Given the description of an element on the screen output the (x, y) to click on. 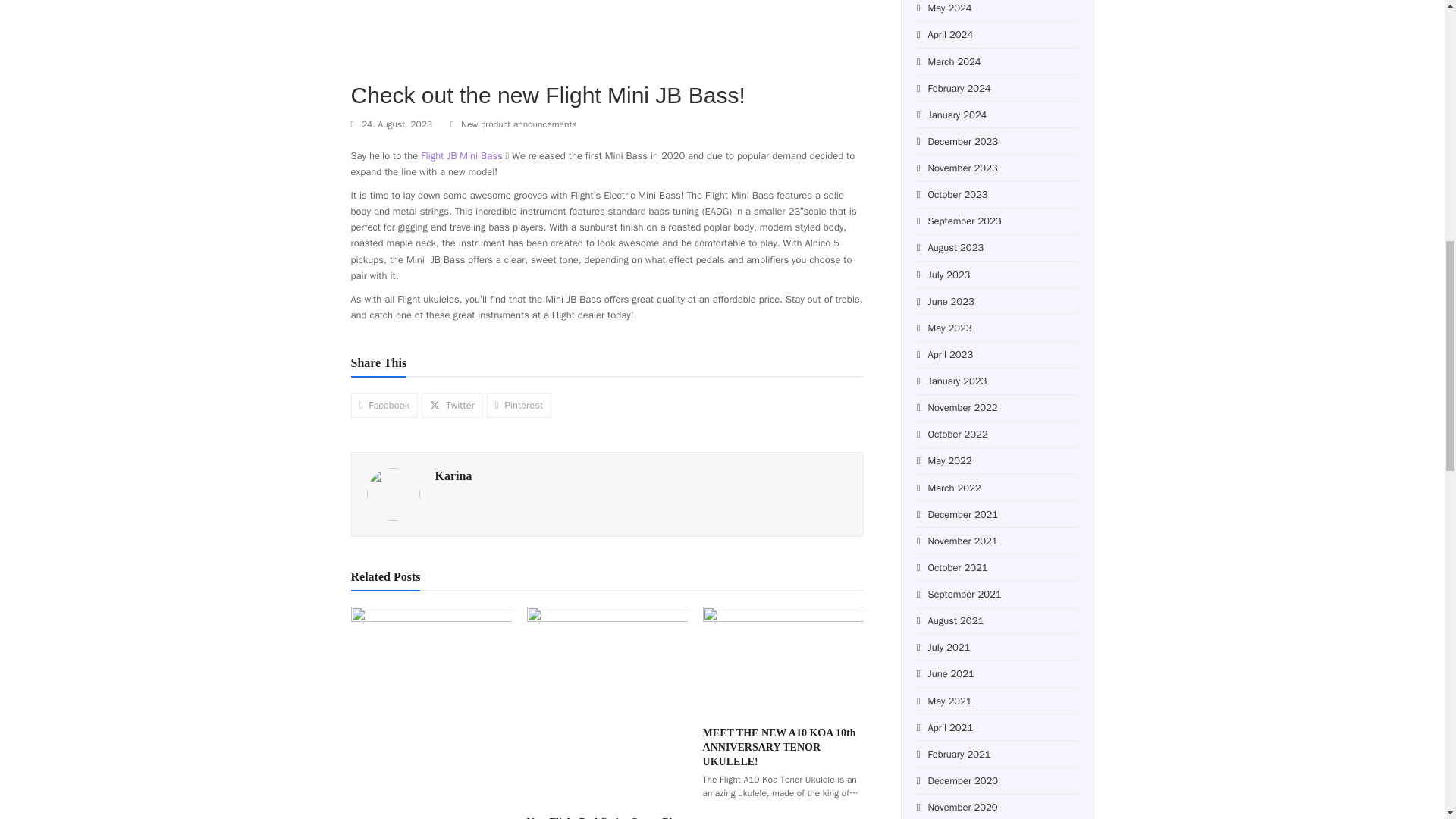
Visit Author Page (393, 492)
Flight JB Mini Bass (461, 155)
New Flight Pathfinder Ocean Blue Baritone Electric Ukulele (607, 703)
MEET THE NEW A10 KOA 10th ANNIVERSARY TENOR UKULELE! (779, 746)
New product announcements (518, 123)
MEET THE NEW A10 KOA 10th ANNIVERSARY TENOR UKULELE! (783, 658)
Karina (453, 475)
New Flight Pathfinder Ocean Blue Baritone Electric Ukulele (604, 817)
Pinterest (518, 405)
Facebook (383, 405)
